Given the description of an element on the screen output the (x, y) to click on. 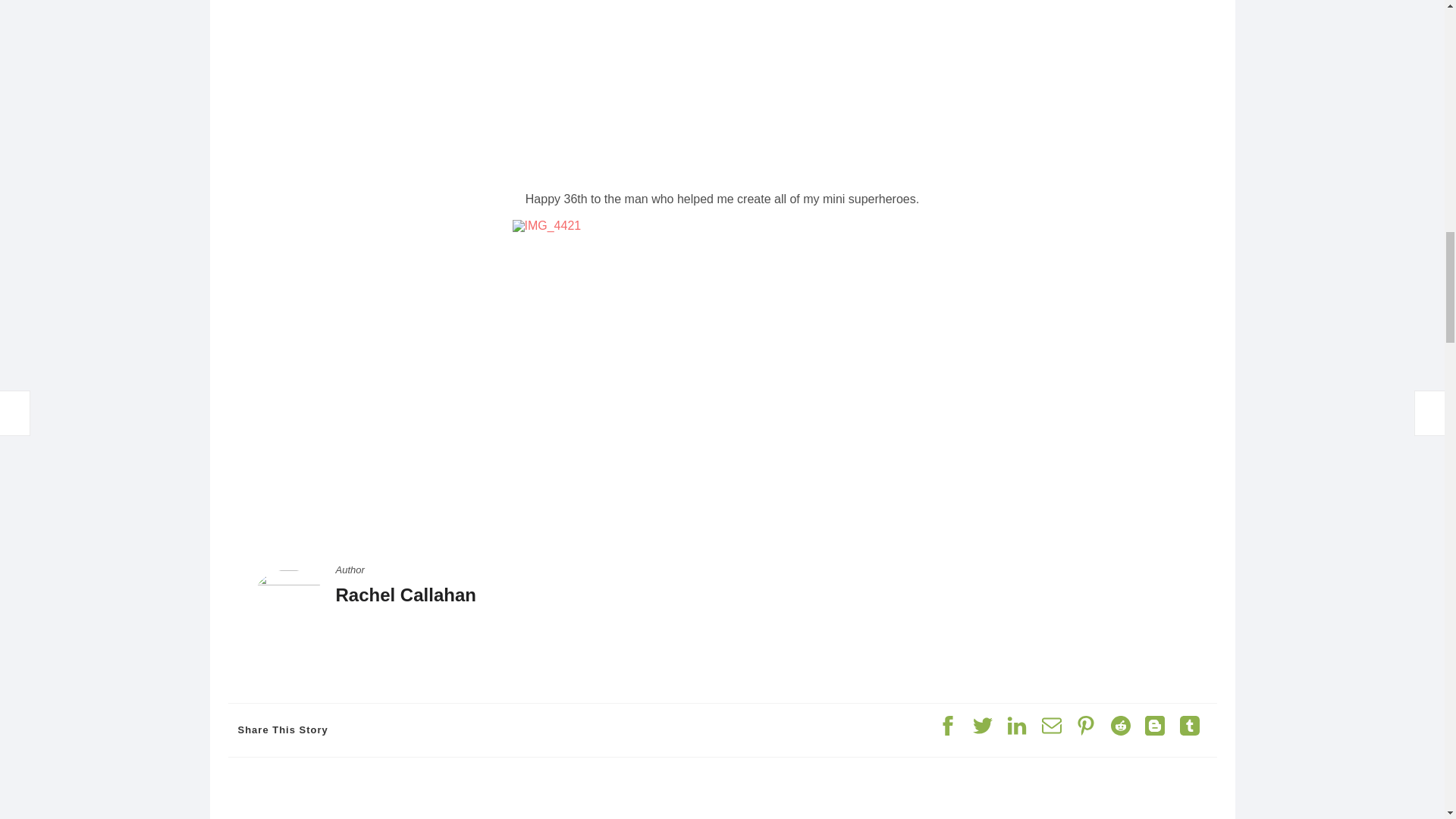
Posts by Rachel Callahan (405, 594)
Rachel Callahan (405, 594)
Rachel and Ali (722, 89)
